Given the description of an element on the screen output the (x, y) to click on. 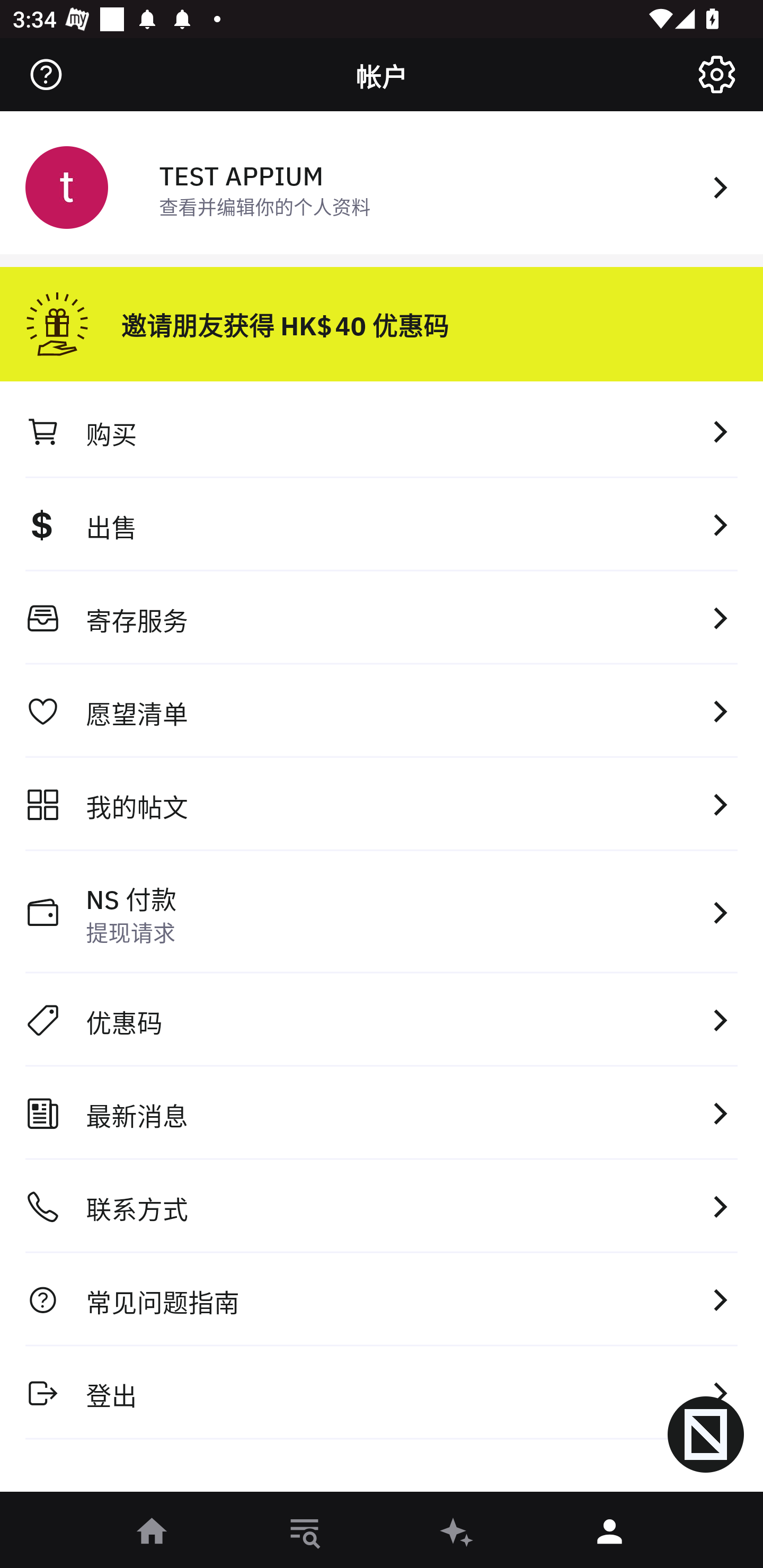
 (46, 74)
 (716, 74)
TEST APPIUM 查看并编辑你的个人资料  (381, 185)
邀请朋友获得 HK$ 40 优惠码 (381, 317)
 购买  (381, 431)
 出售  (381, 524)
 寄存服务  (381, 617)
 愿望清单  (381, 710)
 我的帖文  (381, 804)
 0 NS 付款 提现请求  (381, 912)
 优惠码  (381, 1019)
 最新消息  (381, 1113)
 联系方式  (381, 1206)
 常见问题指南  (381, 1298)
 登出  (381, 1392)
󰋜 (152, 1532)
󱎸 (305, 1532)
󰫢 (457, 1532)
󰀄 (610, 1532)
